Given the description of an element on the screen output the (x, y) to click on. 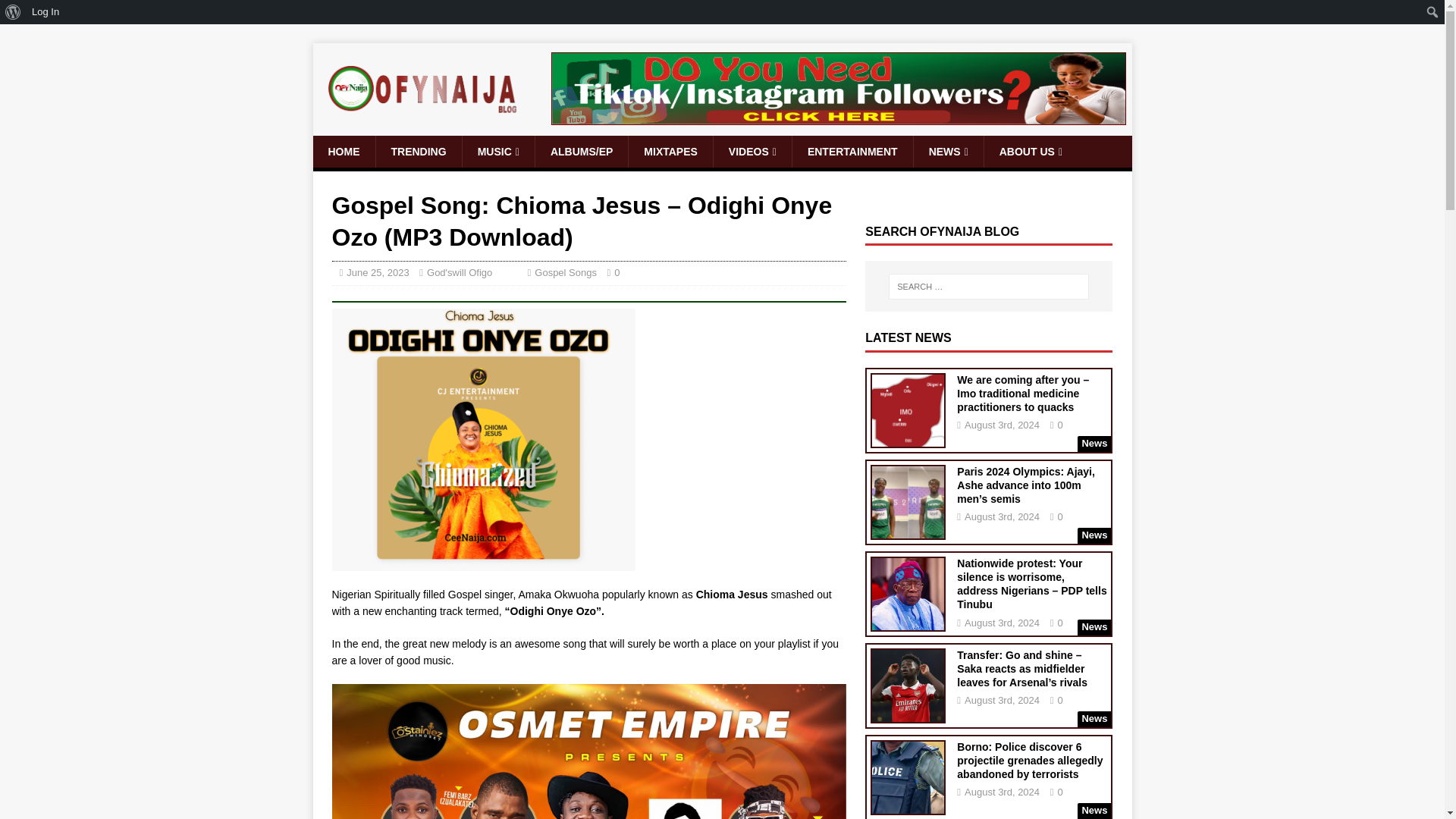
MUSIC (497, 151)
HOME (343, 151)
Log In (45, 12)
Search (56, 12)
TRENDING (417, 151)
